Given the description of an element on the screen output the (x, y) to click on. 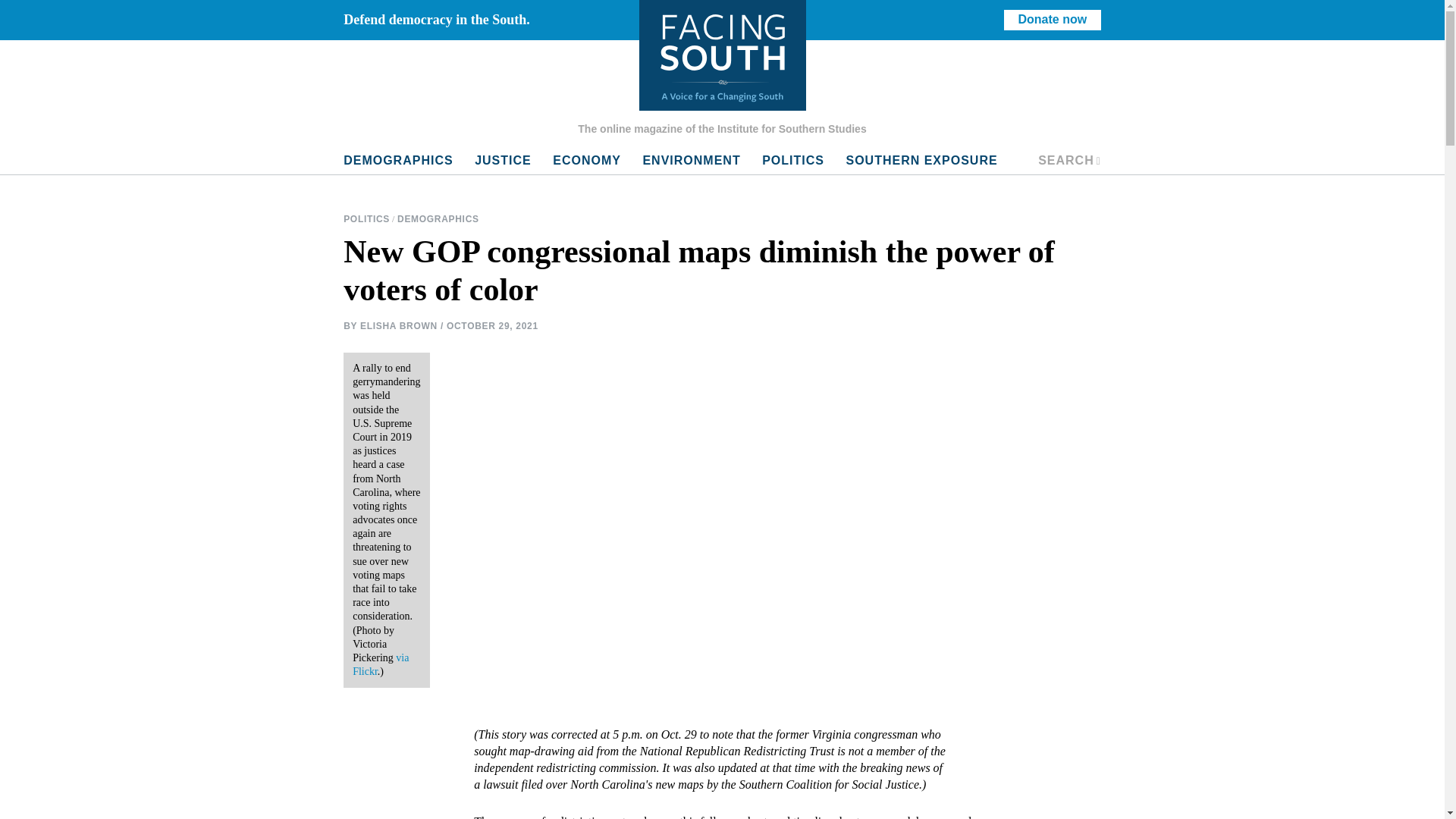
Donate now (1052, 19)
SOUTHERN EXPOSURE (920, 160)
POLITICS (367, 219)
JUSTICE (502, 160)
ELISHA BROWN (398, 325)
Home (722, 55)
DEMOGRAPHICS (437, 219)
ENVIRONMENT (691, 160)
ECONOMY (586, 160)
